Given the description of an element on the screen output the (x, y) to click on. 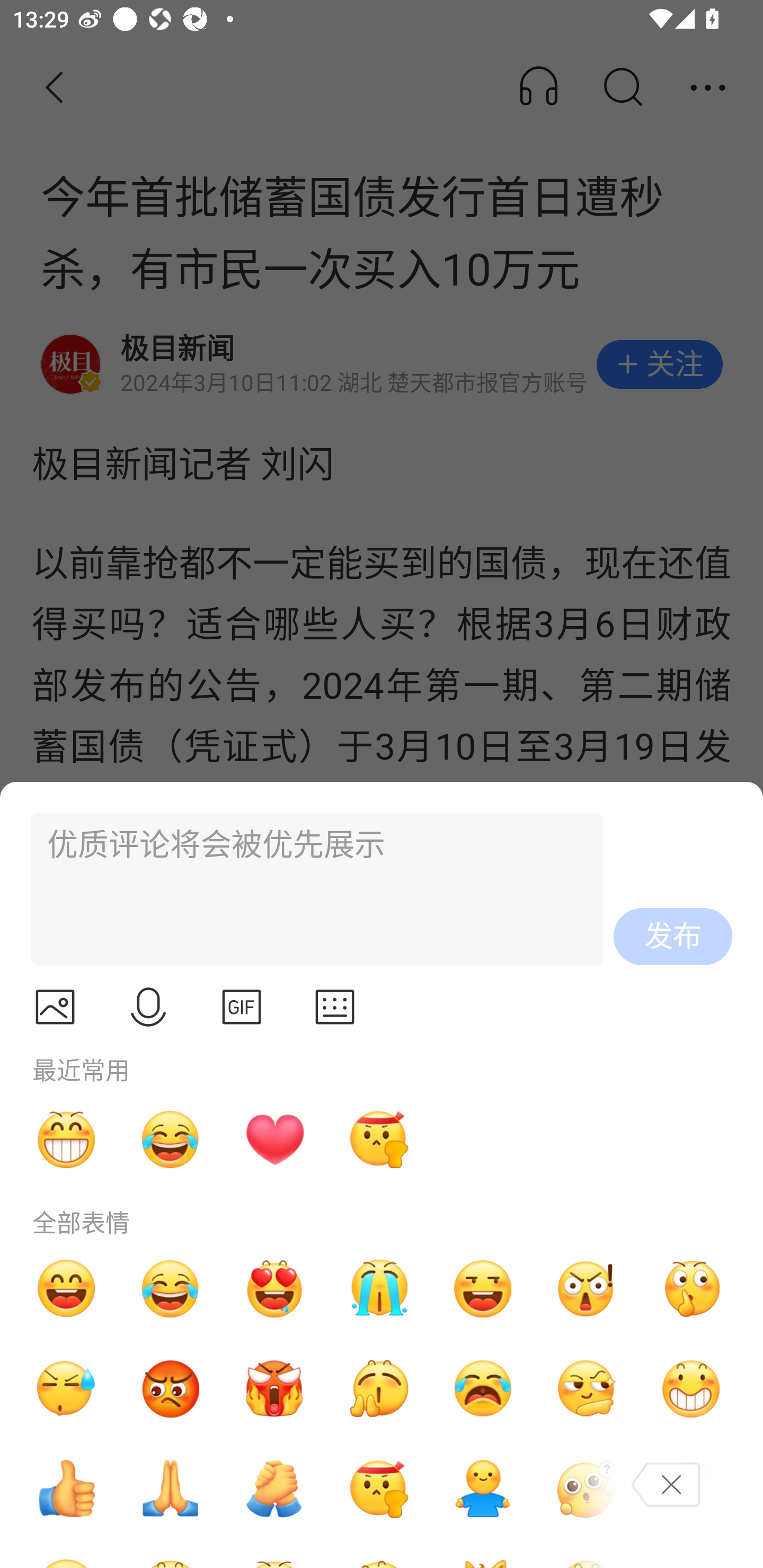
优质评论将会被优先展示 (308, 888)
发布 (672, 936)
 (54, 1007)
 (148, 1007)
 (241, 1007)
 (334, 1007)
呲牙 (66, 1138)
哭笑 (170, 1138)
心 (274, 1138)
奋斗 (378, 1138)
哈哈 (66, 1288)
哭笑 (170, 1288)
喜欢 (274, 1288)
哭 (378, 1288)
嘿嘿 (482, 1288)
吃惊 (586, 1288)
嘘 (690, 1288)
汗 (66, 1389)
生气 (170, 1389)
愤怒 (274, 1389)
喝彩 (378, 1389)
抓狂 (482, 1389)
机智 (586, 1389)
坏笑 (690, 1389)
点赞 (66, 1488)
缅怀 (170, 1488)
加油 (274, 1488)
奋斗 (378, 1488)
抱抱 (482, 1488)
疑问 (586, 1488)
